Given the description of an element on the screen output the (x, y) to click on. 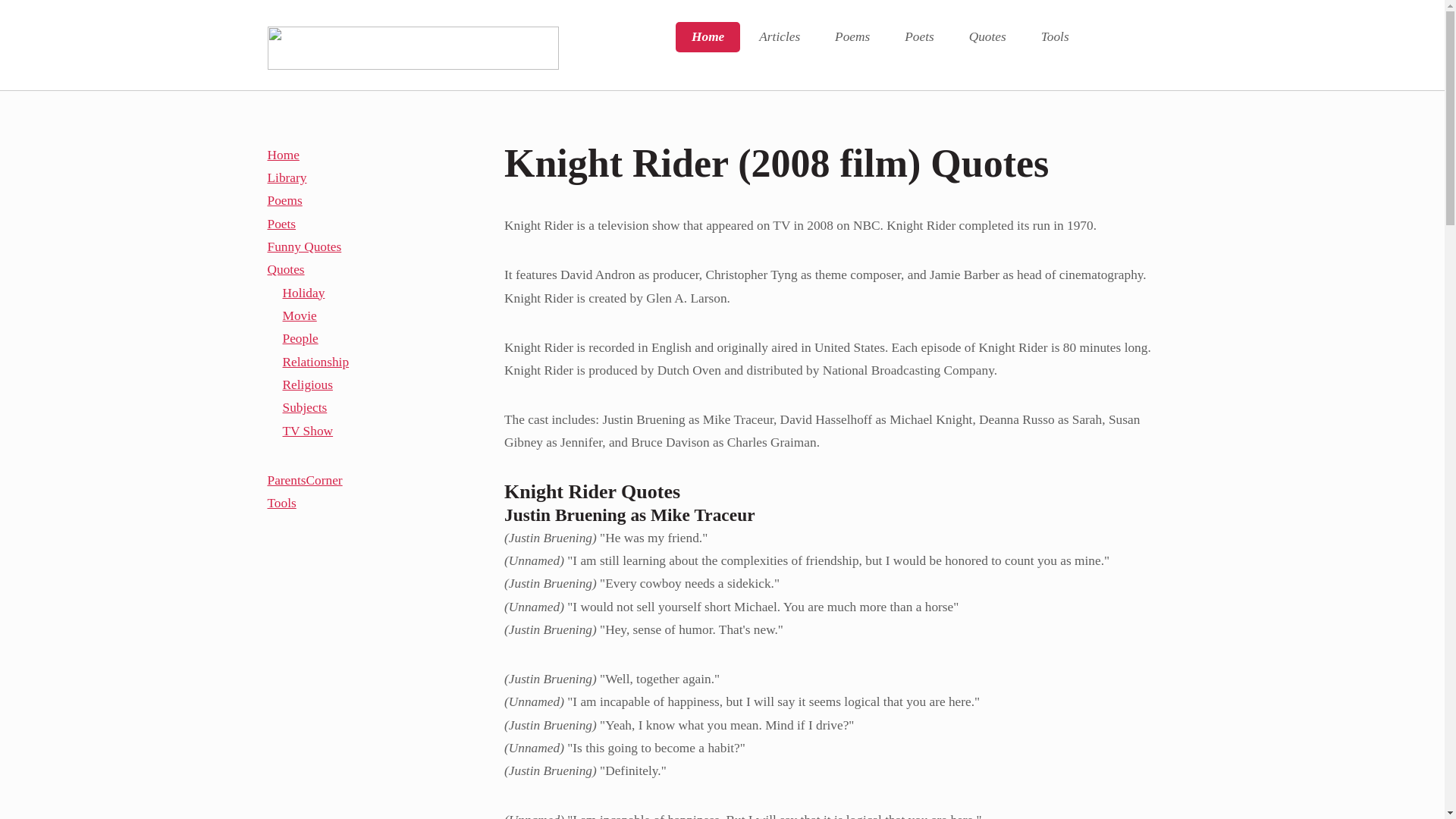
Poets (918, 37)
Quotes (987, 37)
Articles (778, 37)
Poems (851, 37)
Home (707, 37)
